Given the description of an element on the screen output the (x, y) to click on. 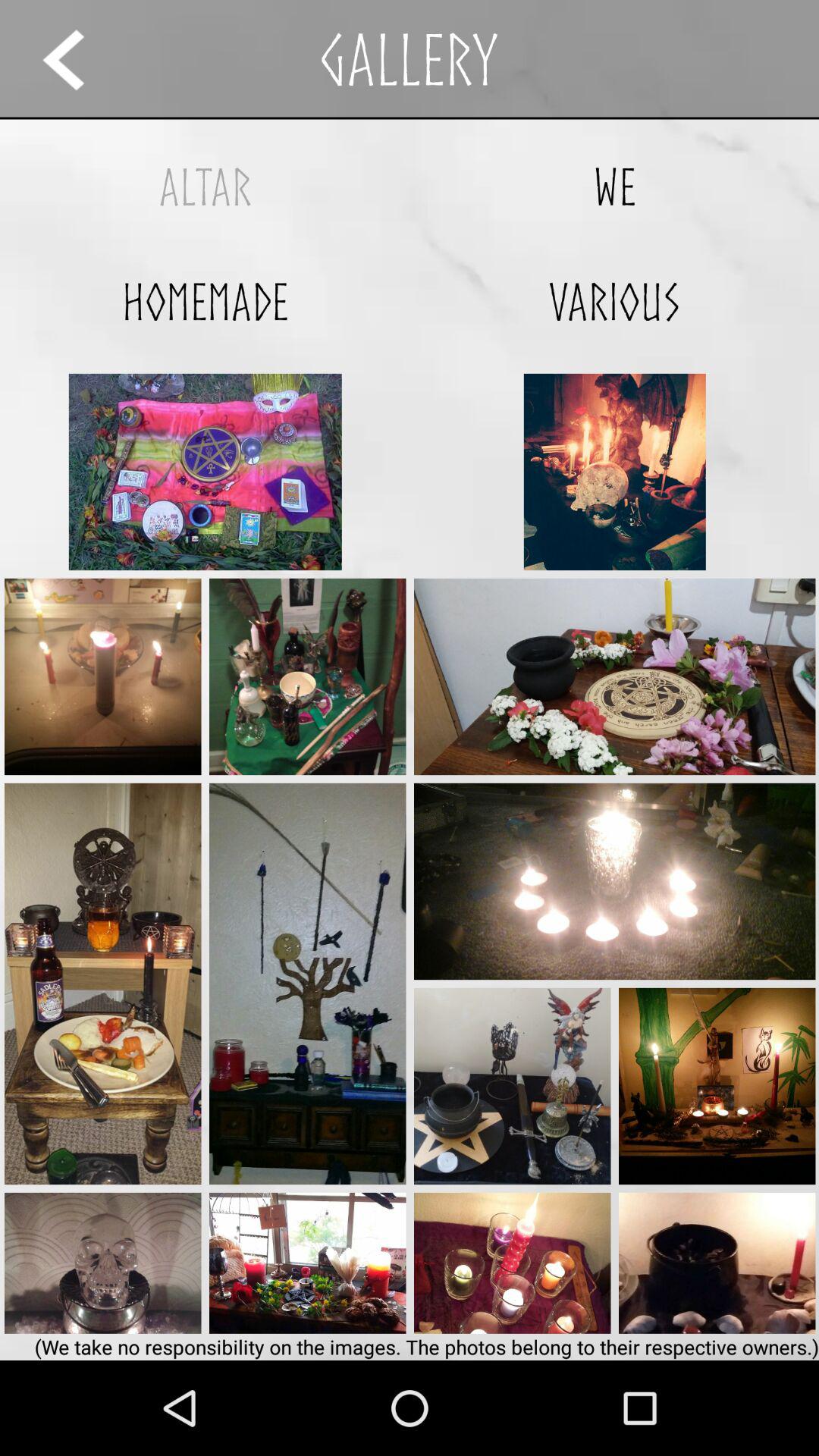
launch item next to the gallery app (77, 59)
